Given the description of an element on the screen output the (x, y) to click on. 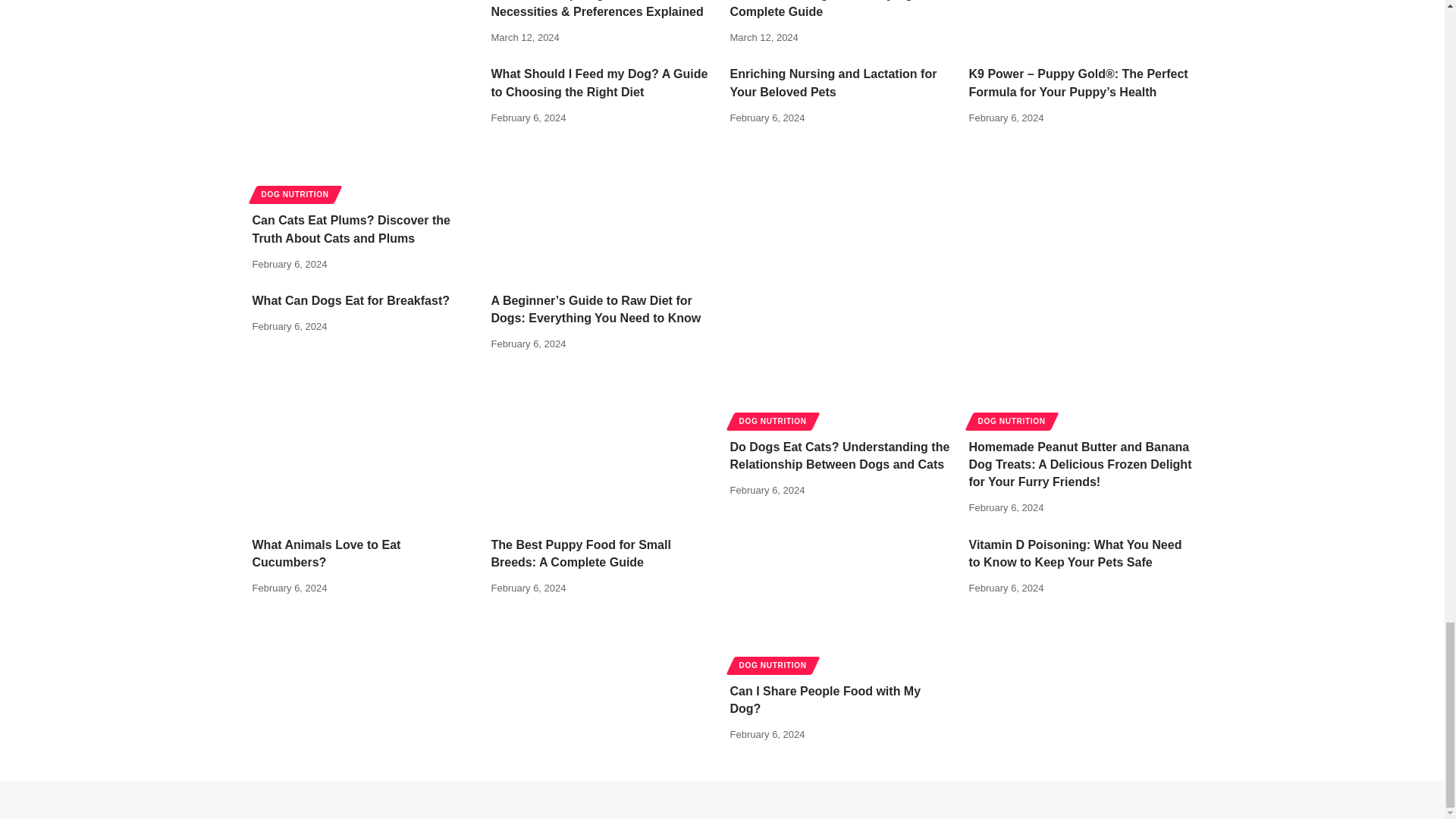
Can I Share People Food with My Dog? (841, 603)
Can Cats Eat Plums? Discover the Truth About Cats and Plums (363, 132)
